Given the description of an element on the screen output the (x, y) to click on. 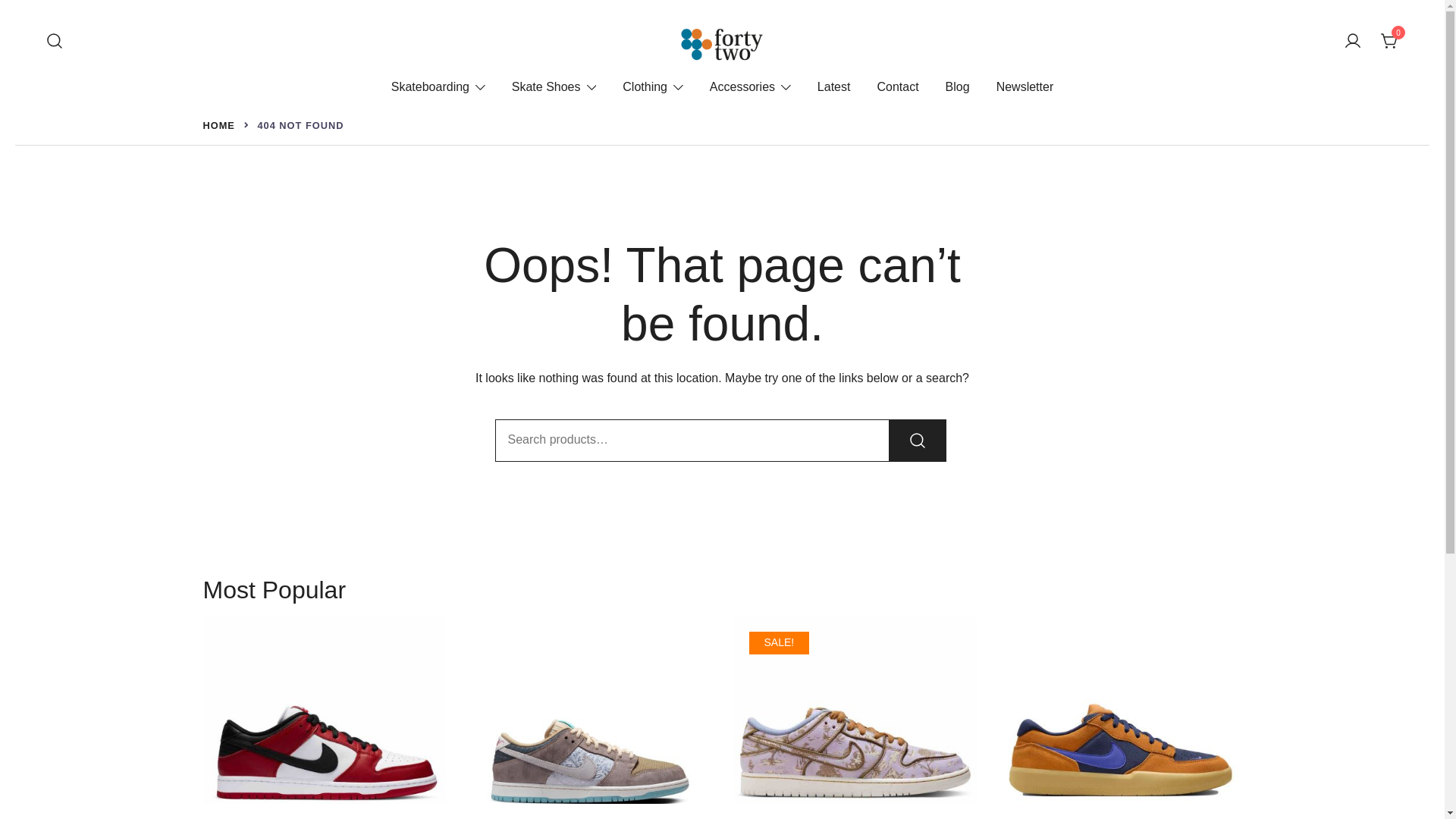
Forty Two Skateboard Shop Nottingham (810, 78)
Skateboarding (429, 87)
0 (1389, 41)
View your shopping cart (1389, 41)
Search for the product (917, 440)
0 (1389, 41)
Skate Shoes (546, 87)
Your account (1352, 41)
Accessories (742, 87)
Clothing (644, 87)
